Given the description of an element on the screen output the (x, y) to click on. 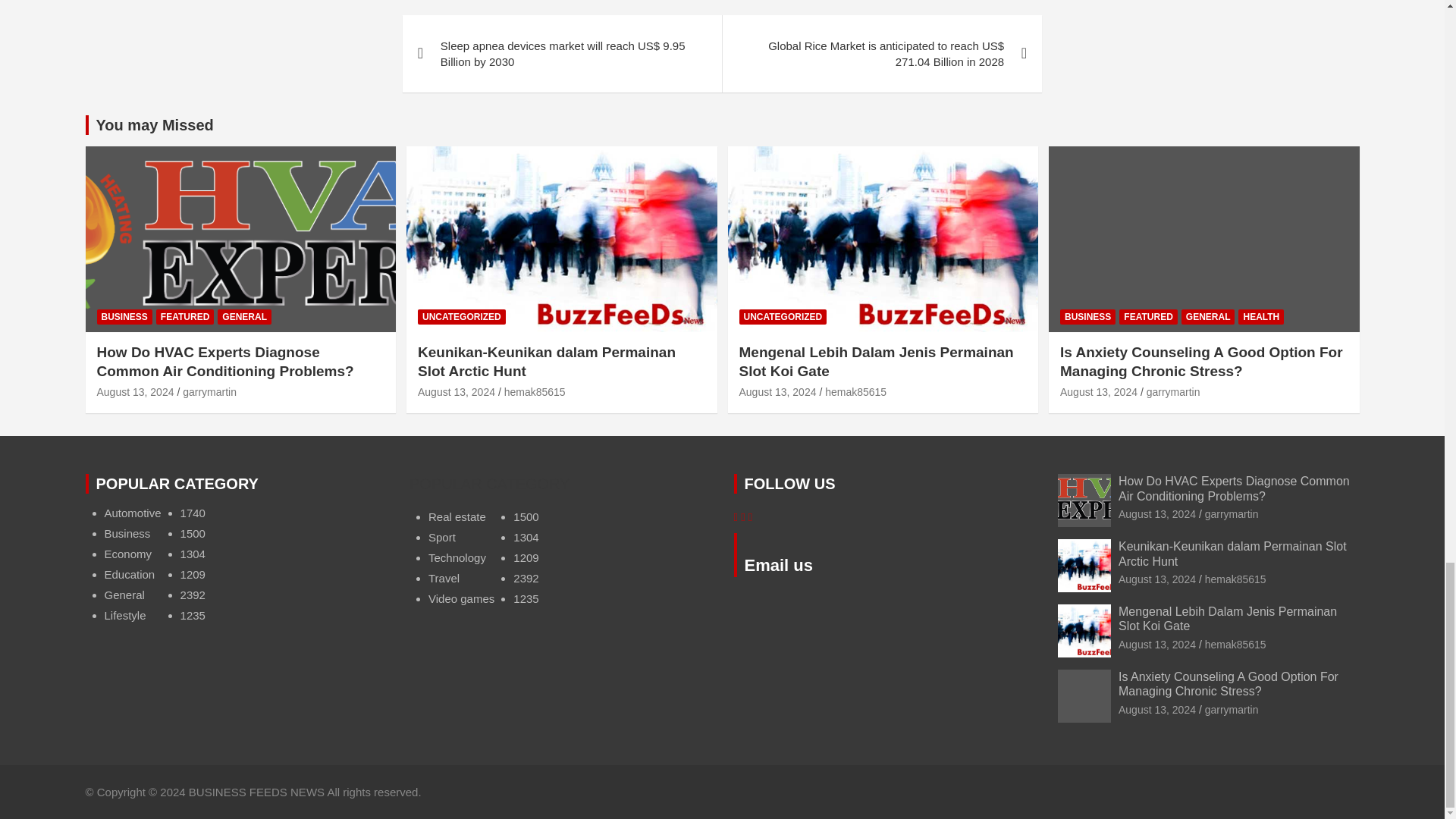
Keunikan-Keunikan dalam Permainan Slot Arctic Hunt (1156, 579)
Keunikan-Keunikan dalam Permainan Slot Arctic Hunt (456, 391)
You may Missed (154, 125)
Mengenal Lebih Dalam Jenis Permainan Slot Koi Gate (776, 391)
Mengenal Lebih Dalam Jenis Permainan Slot Koi Gate (1156, 644)
